Given the description of an element on the screen output the (x, y) to click on. 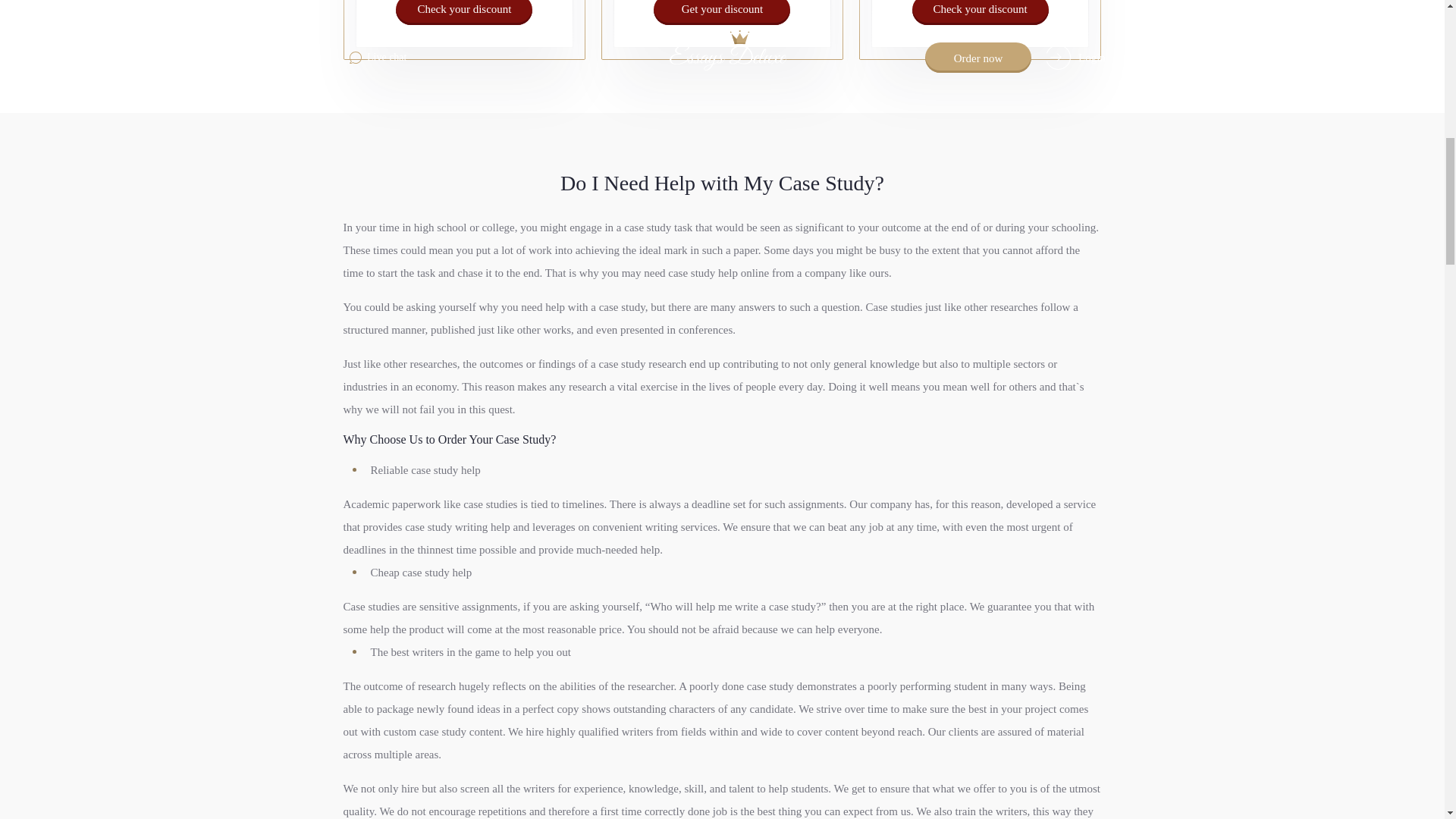
Check your discount (979, 12)
Get your discount (721, 12)
Check your discount (464, 12)
